Given the description of an element on the screen output the (x, y) to click on. 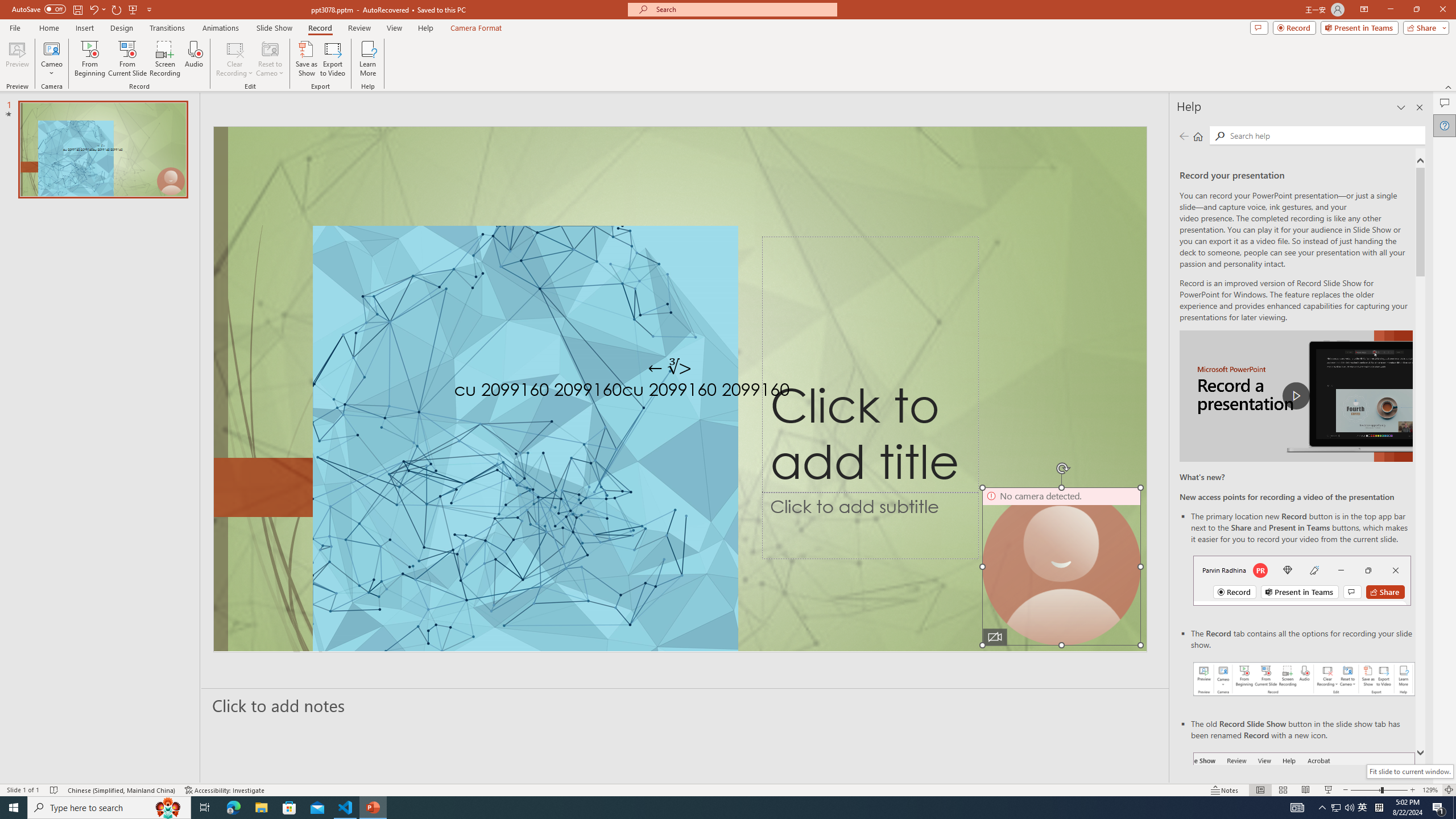
play Record a Presentation (1296, 395)
